Given the description of an element on the screen output the (x, y) to click on. 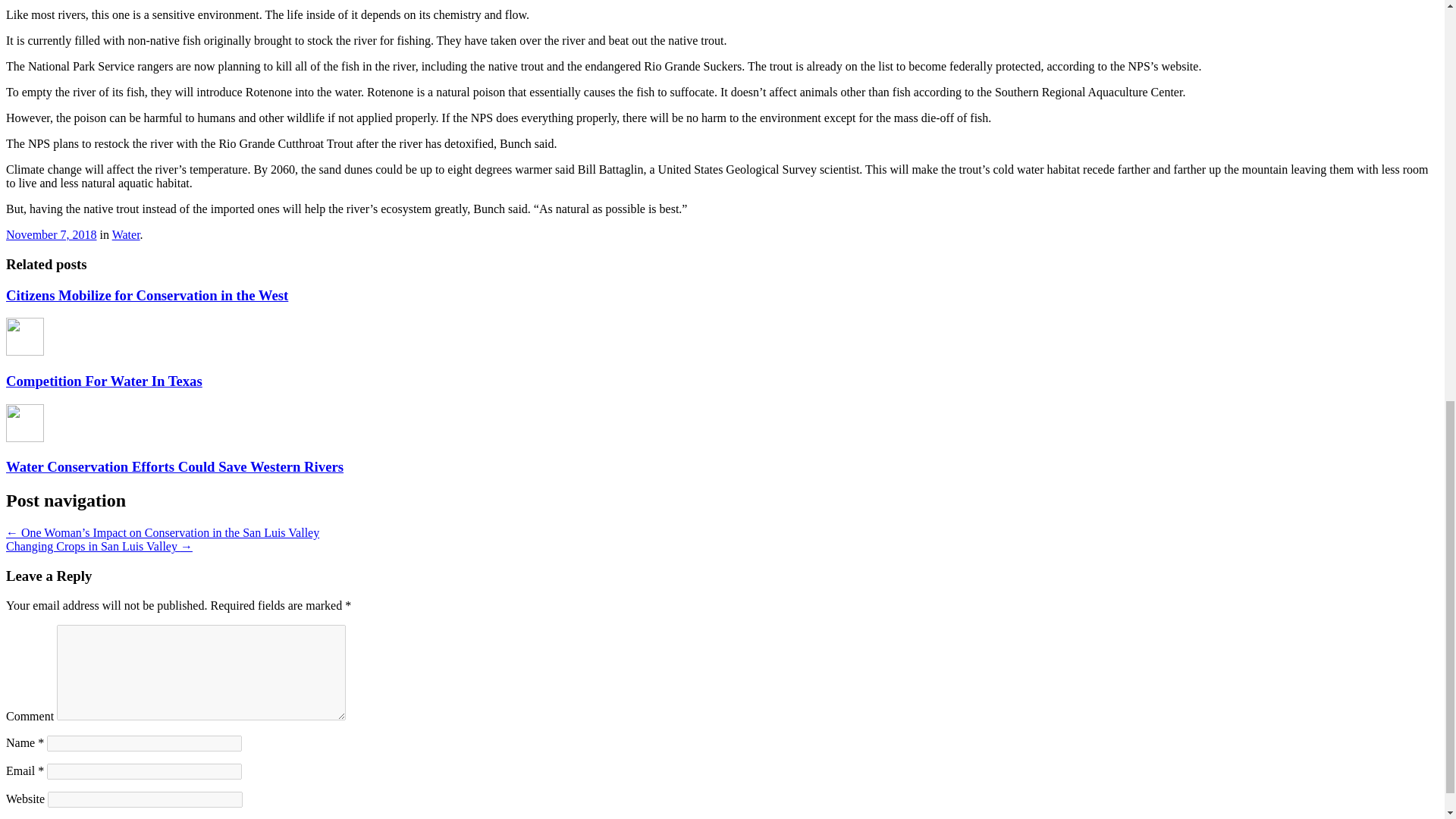
Water Conservation Efforts Could Save Western Rivers (174, 466)
Water (125, 234)
November 7, 2018 (51, 234)
Permalink to Citizens Mobilize for Conservation in the West (146, 295)
Citizens Mobilize for Conservation in the West (146, 295)
Competition For Water In Texas (103, 381)
Permalink to Competition For Water In Texas (103, 381)
